Given the description of an element on the screen output the (x, y) to click on. 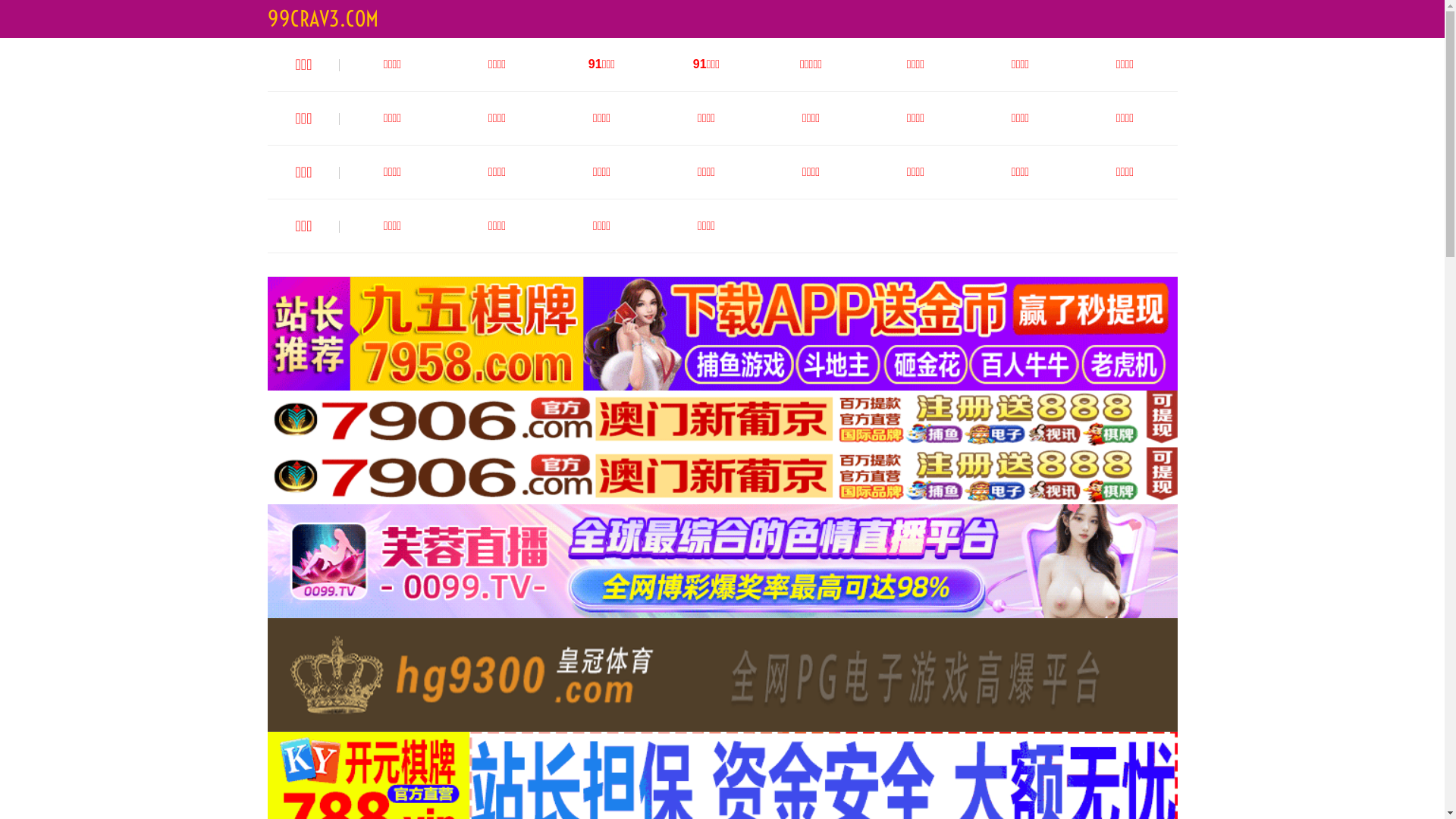
99CRAV3.COM Element type: text (321, 18)
